Given the description of an element on the screen output the (x, y) to click on. 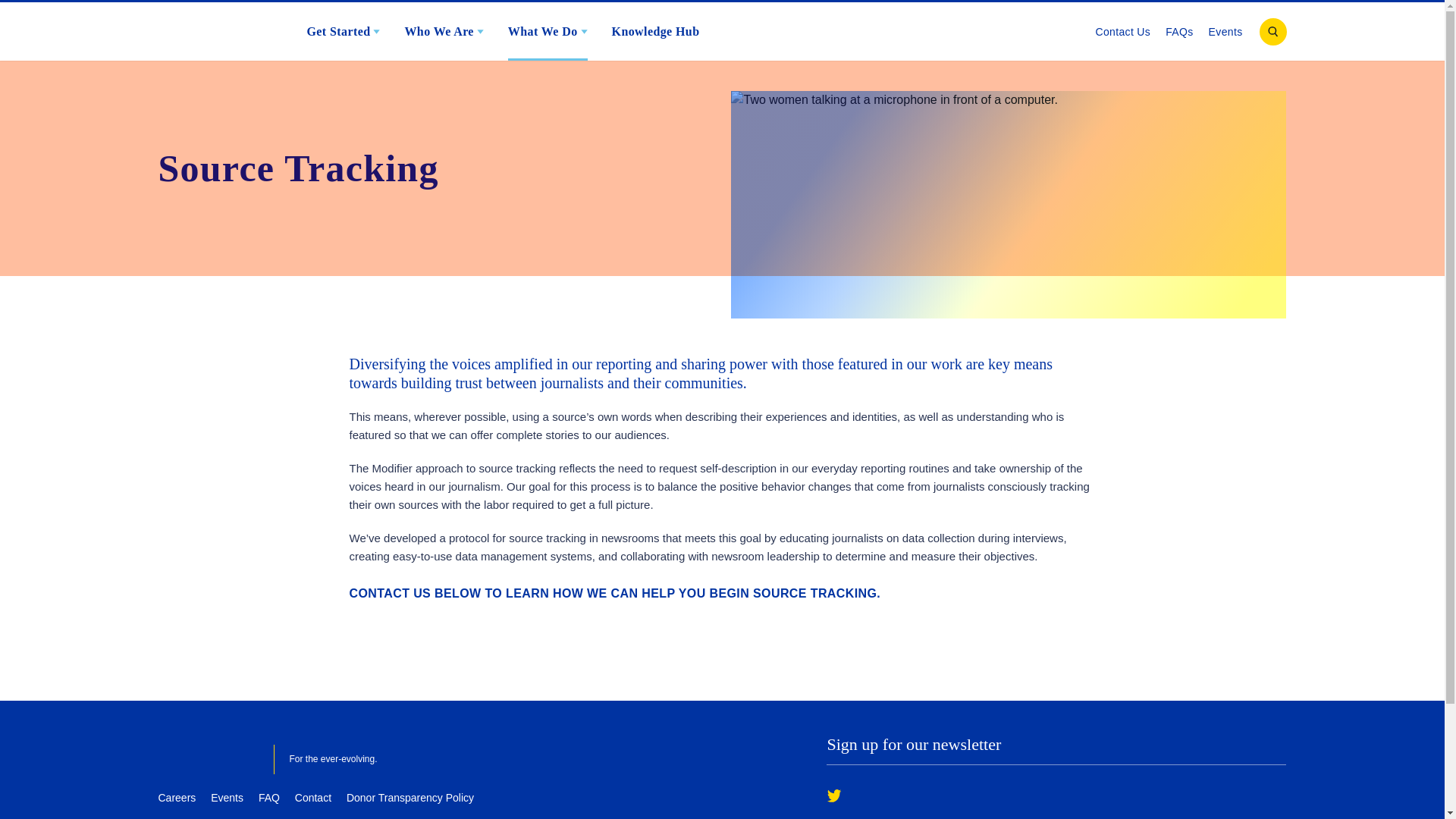
Search (1272, 31)
What We Do (547, 30)
Get Started (342, 30)
FAQs (1178, 30)
Knowledge Hub (655, 30)
Events (1225, 30)
Who We Are (443, 30)
Contact Us (1122, 30)
